Given the description of an element on the screen output the (x, y) to click on. 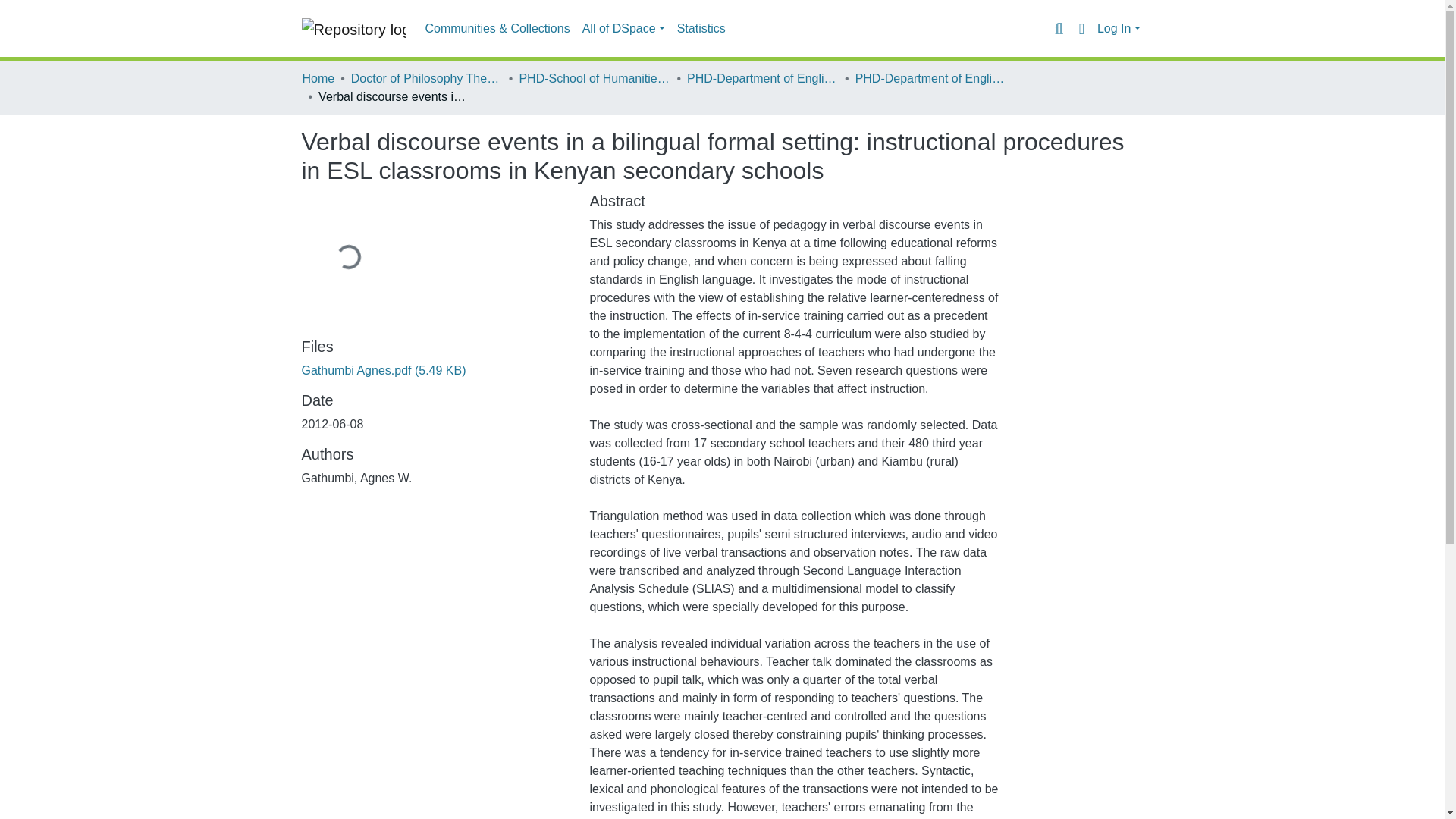
Language switch (1081, 28)
Statistics (701, 28)
Search (1058, 28)
Log In (1118, 28)
Home (317, 78)
All of DSpace (623, 28)
Statistics (701, 28)
